Given the description of an element on the screen output the (x, y) to click on. 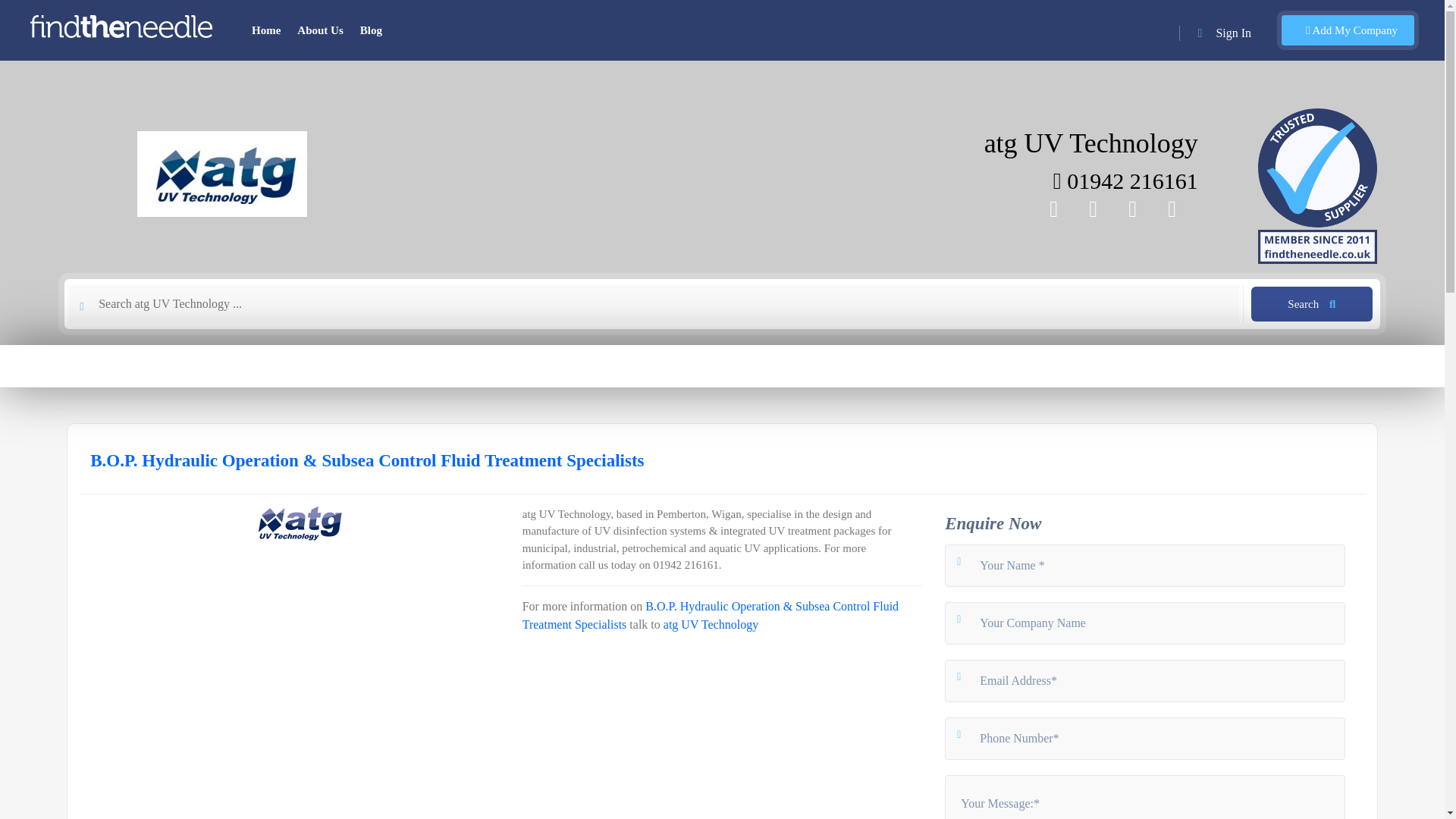
  VISIT OUR WEBSITE (1287, 366)
atg UV Technology (710, 624)
  CONTACT US (1136, 366)
HOME (97, 366)
Add My Company (1347, 30)
Search (1311, 303)
CASE STUDIES (344, 366)
01942 216161 (1125, 180)
DOCUMENTS (461, 366)
NEWS (253, 366)
